Given the description of an element on the screen output the (x, y) to click on. 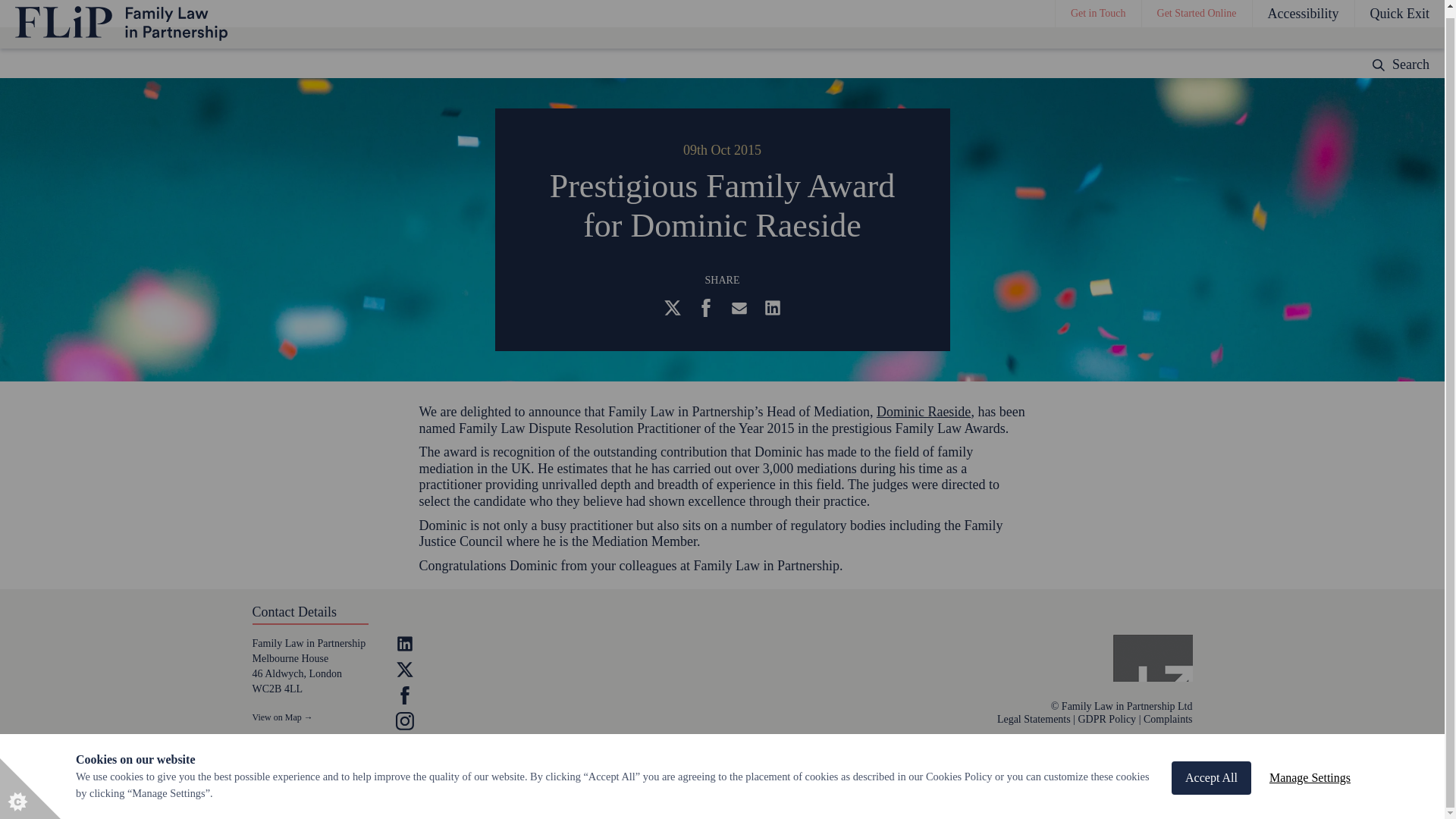
Get Started Online (1196, 10)
Accessibility (1303, 10)
Complaints (1167, 718)
Dominic Raeside (923, 411)
GDPR Policy (1107, 718)
Get in Touch (1097, 10)
Legal Statements (1033, 718)
